Given the description of an element on the screen output the (x, y) to click on. 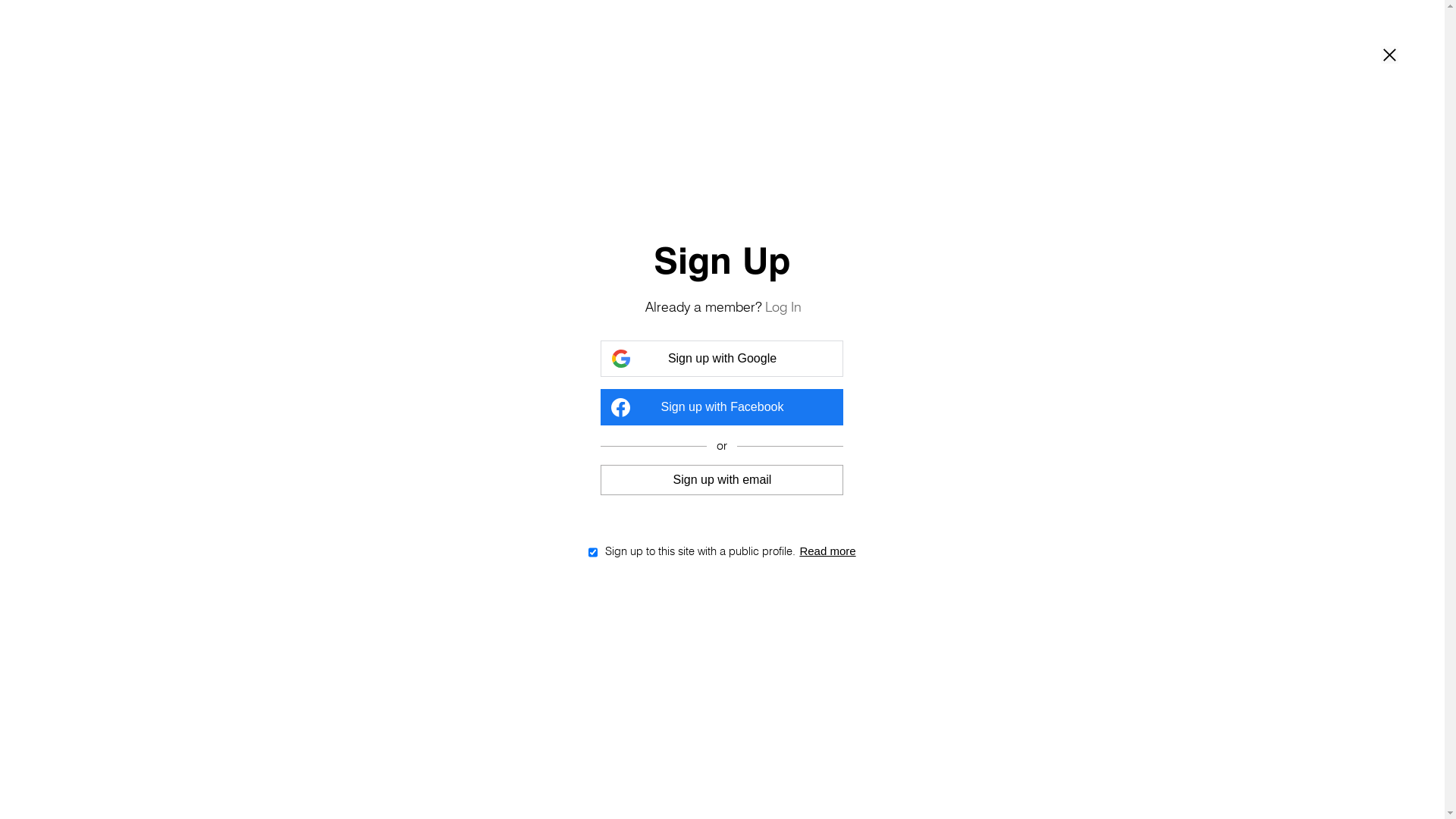
Log In Element type: text (783, 306)
Sign up with Facebook Element type: text (721, 407)
Sign up with Google Element type: text (721, 358)
Sign up with email Element type: text (721, 479)
Read more Element type: text (827, 550)
